Given the description of an element on the screen output the (x, y) to click on. 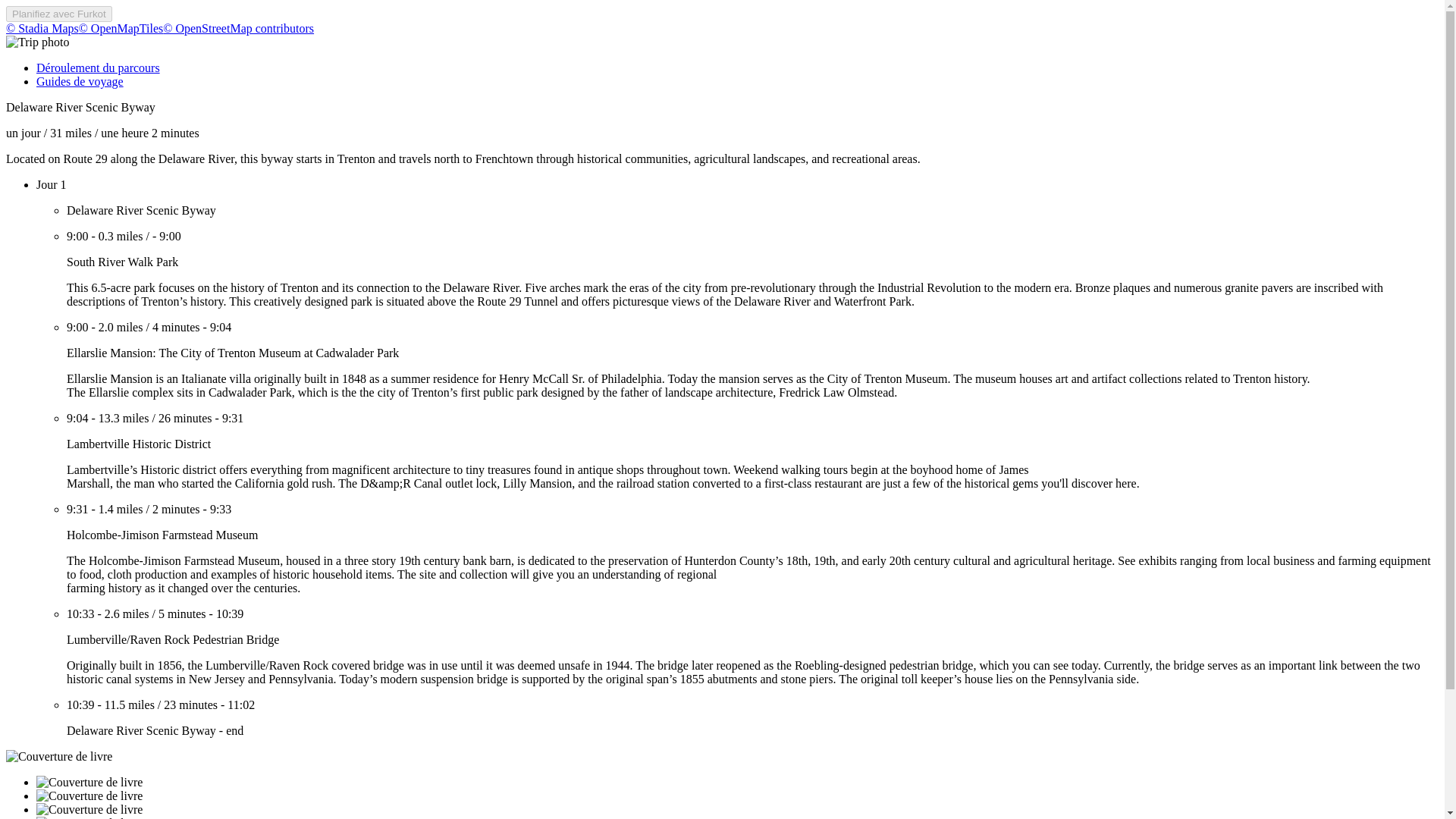
Planifiez avec Furkot (58, 13)
Guides de voyage (79, 81)
